Given the description of an element on the screen output the (x, y) to click on. 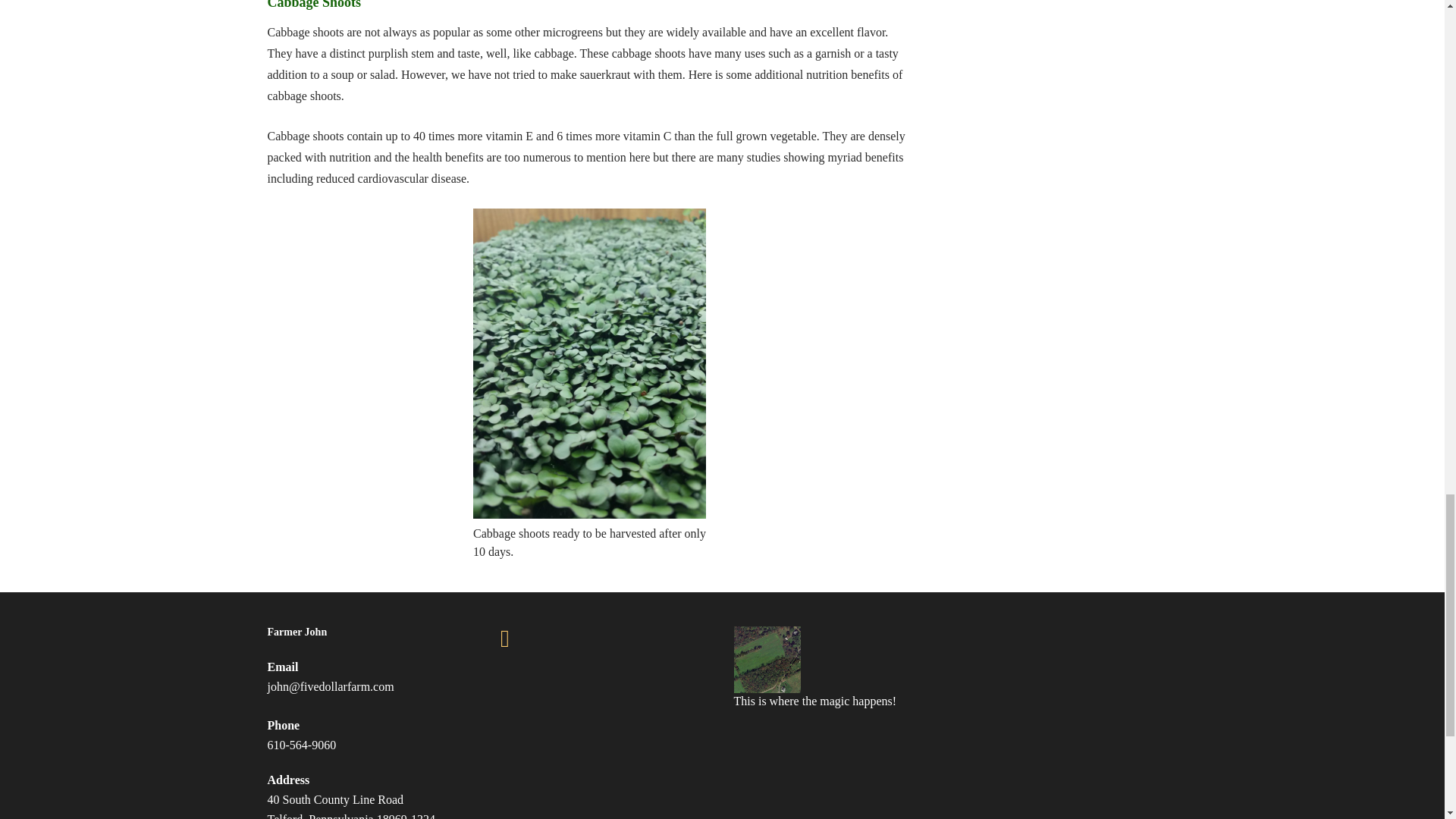
Visit FiveDollarFarm on reddit (526, 641)
